Given the description of an element on the screen output the (x, y) to click on. 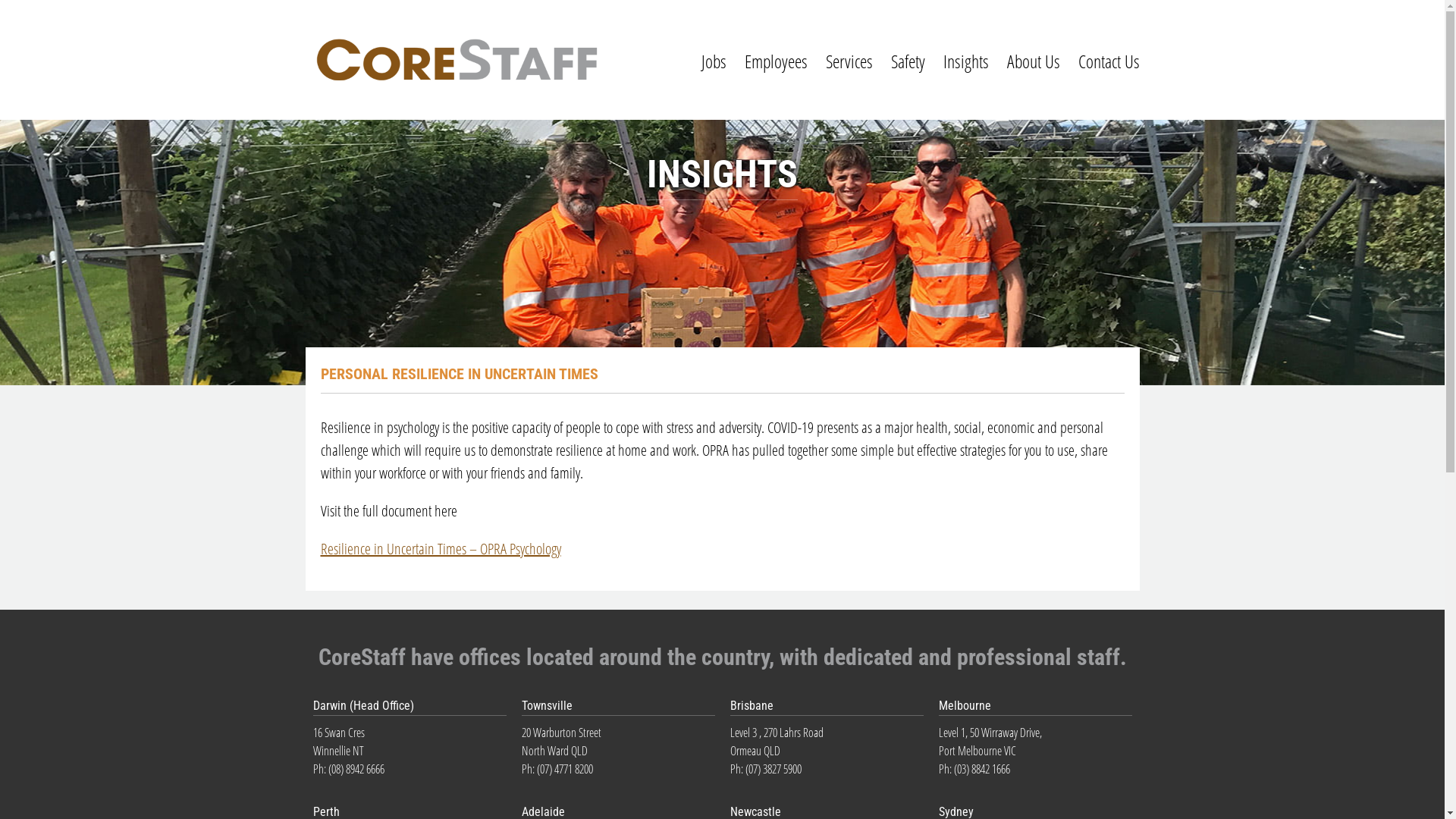
Darwin (Head Office) Element type: text (362, 705)
Employees Element type: text (775, 60)
Jobs Element type: text (712, 60)
Contact Us Element type: text (1108, 60)
About Us Element type: text (1033, 60)
Insights Element type: text (965, 60)
Services Element type: text (848, 60)
Safety Element type: text (907, 60)
Townsville Element type: text (546, 705)
Brisbane Element type: text (750, 705)
Melbourne Element type: text (964, 705)
